Given the description of an element on the screen output the (x, y) to click on. 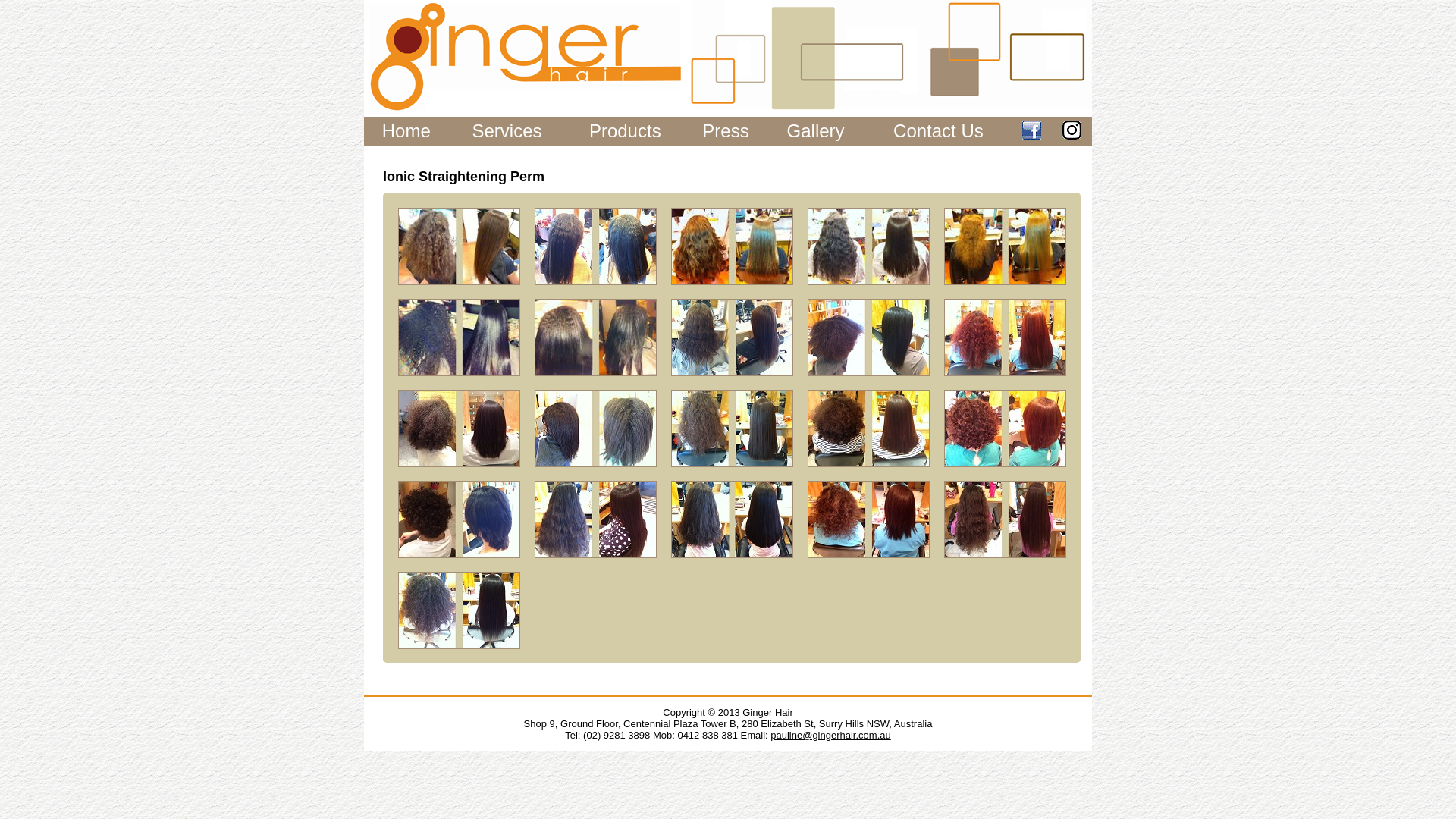
Client 11 - Before & After Element type: hover (868, 427)
Gallery Element type: text (815, 130)
Services Element type: text (506, 130)
Client 13 - Before & After Element type: hover (458, 518)
pauline@gingerhair.com.au Element type: text (830, 734)
Client 7 - Before & After Element type: hover (868, 336)
Client 9 - After 8 Months Element type: hover (595, 427)
Client 12 - Before & After Element type: hover (1004, 427)
Client 17 - Before & After Element type: hover (1004, 518)
Press Element type: text (725, 130)
Client 2 - Before & After Element type: hover (731, 245)
Products Element type: text (625, 130)
Client 18 - Before & After Element type: hover (458, 609)
Contact Us Element type: text (938, 130)
Client 5 - Before & After Element type: hover (458, 336)
Client 8 - Before & After Element type: hover (1004, 336)
Client 1 - After 12 Months Element type: hover (595, 245)
Client 16 - Before & After Element type: hover (868, 518)
Client 15 - Before & After Element type: hover (731, 518)
Client 10 - Before & After Element type: hover (731, 427)
Client 5 - After 8 Months Element type: hover (595, 336)
Client 9 - Before & After Element type: hover (458, 427)
Client 6 - Before & After Element type: hover (731, 336)
Client 14 - Before & After Element type: hover (595, 518)
Client 4 - Before & After Element type: hover (1004, 245)
Client 3 - Before & After Element type: hover (868, 245)
Home Element type: text (406, 130)
Client 1 - Before & After Element type: hover (458, 245)
